Given the description of an element on the screen output the (x, y) to click on. 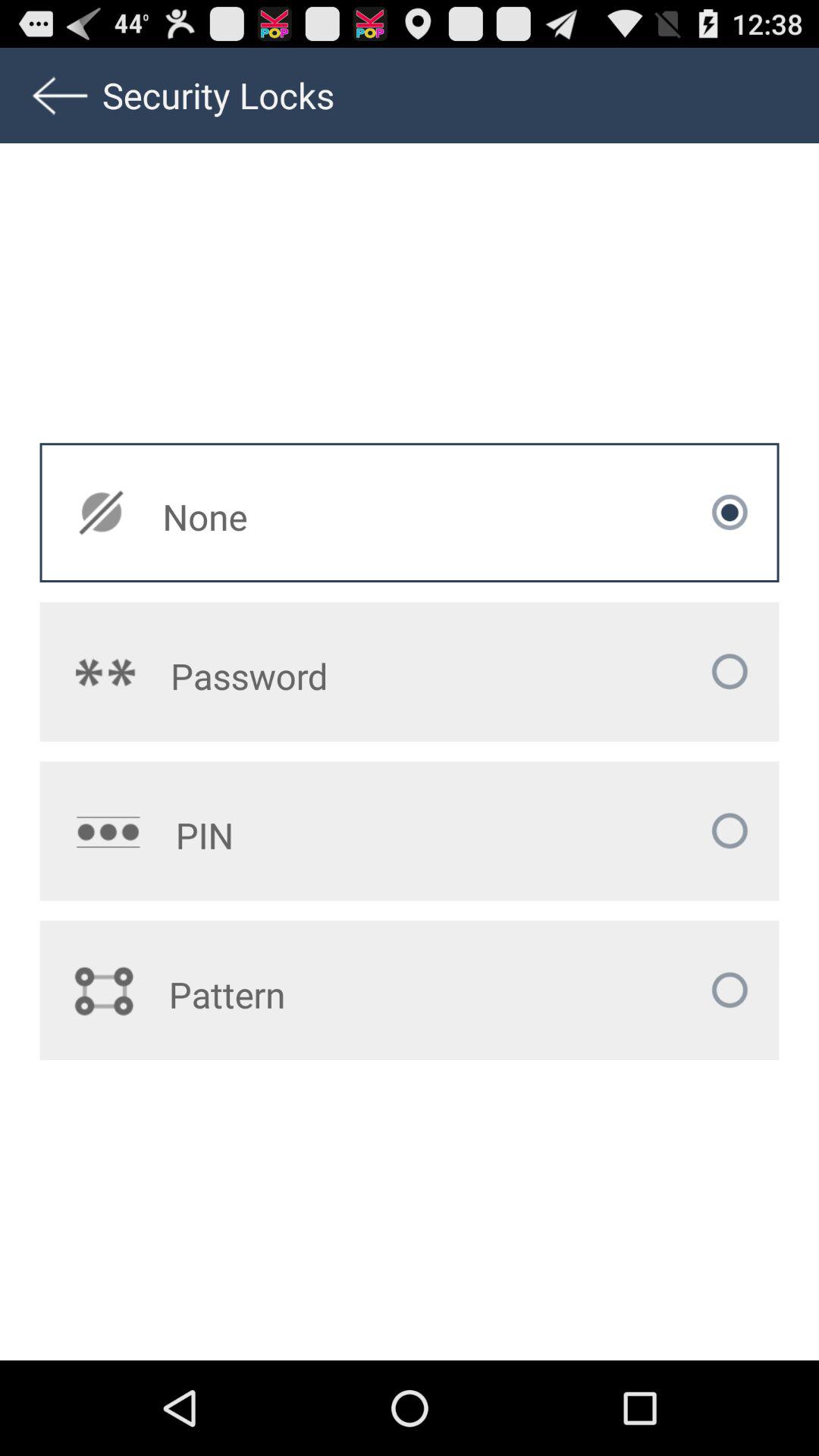
choose the app above pattern app (324, 835)
